Given the description of an element on the screen output the (x, y) to click on. 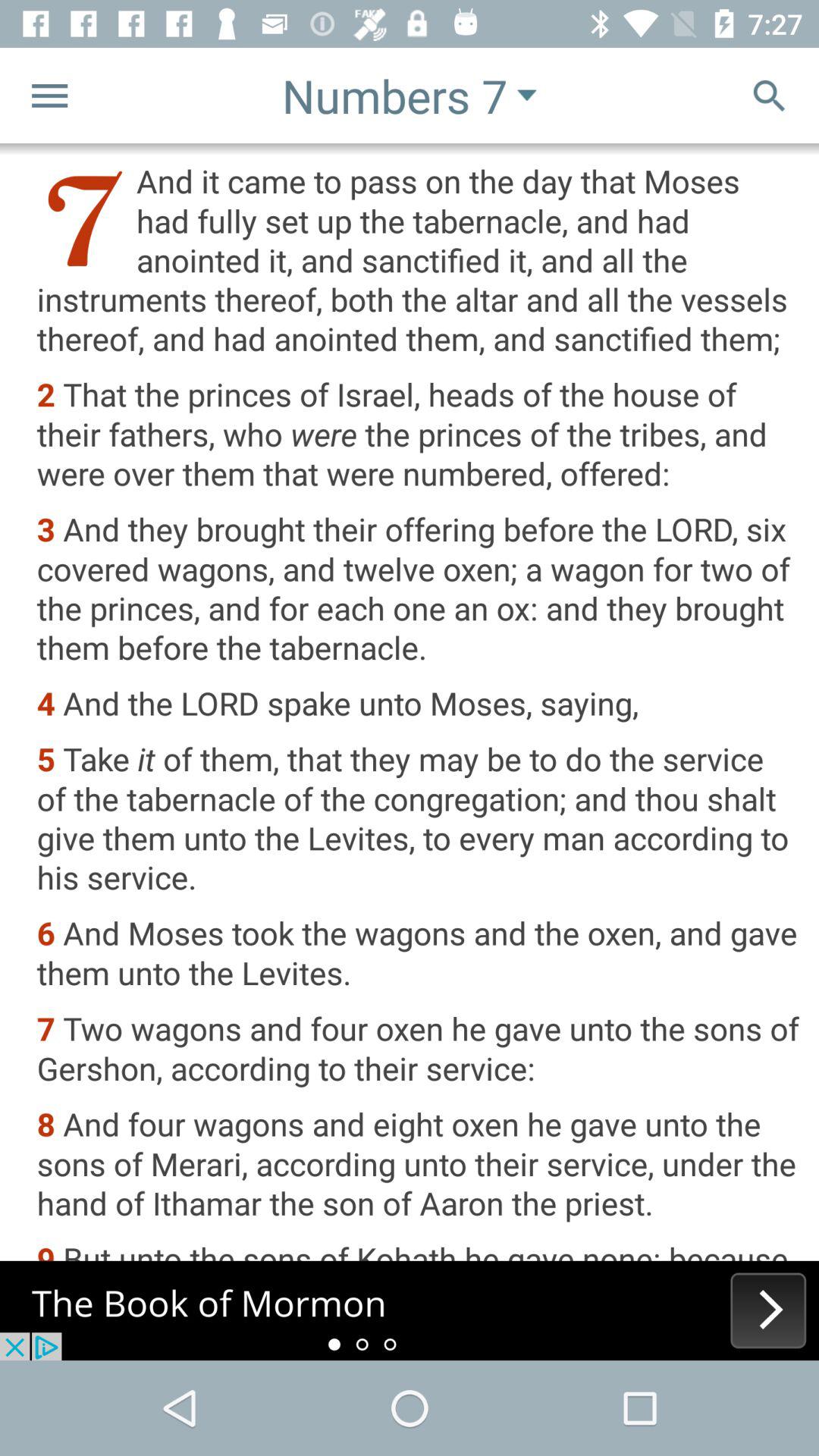
search bar (769, 95)
